Given the description of an element on the screen output the (x, y) to click on. 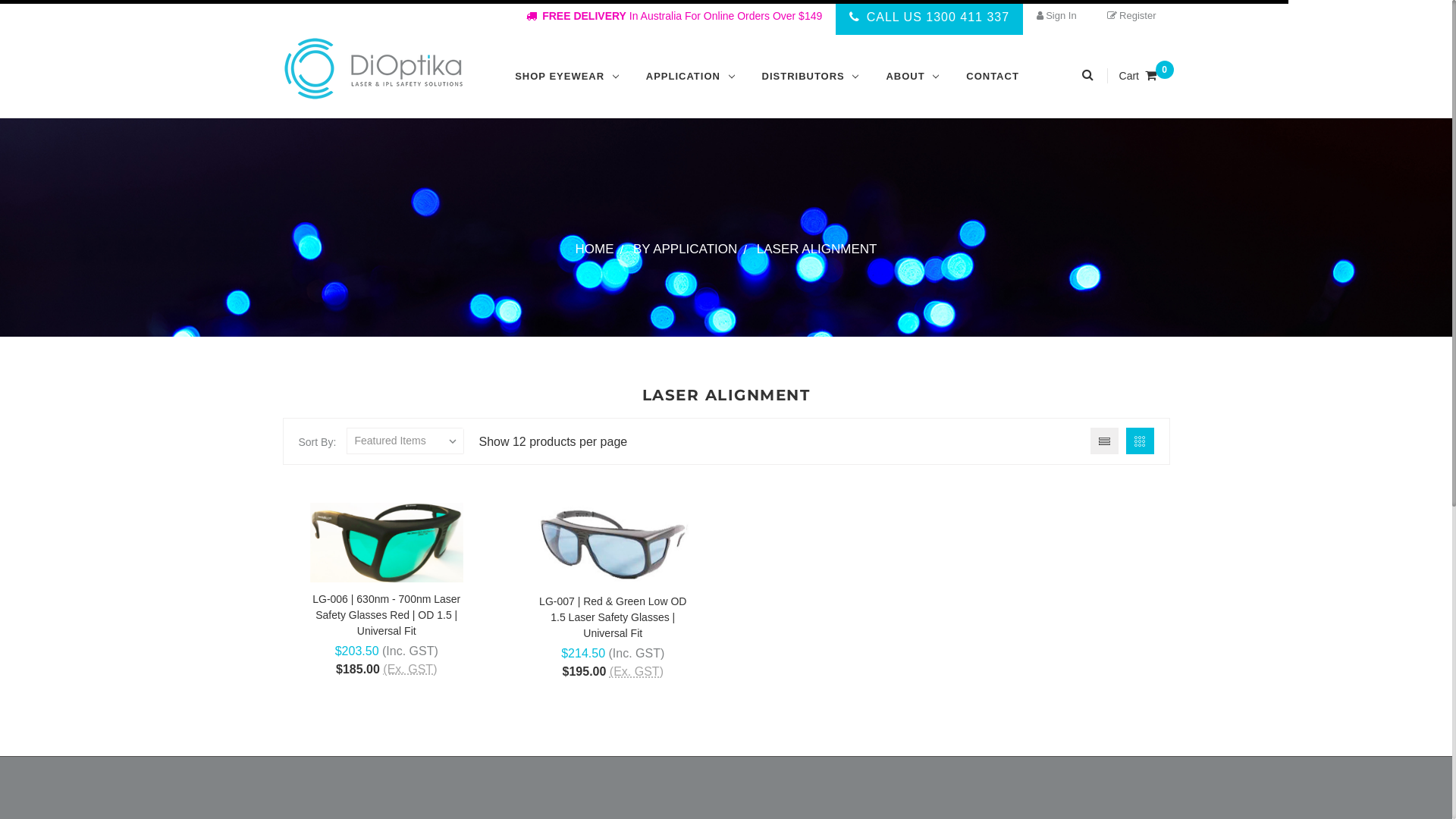
LG-006 Fitover Red Laser Safety Glasses Element type: hover (386, 542)
DISTRIBUTORS Element type: text (810, 76)
ABOUT Element type: text (912, 76)
Cart 
0 Element type: text (1138, 76)
FREE DELIVERY In Australia For Online Orders Over $149 Element type: text (673, 16)
HOME Element type: text (594, 248)
Register Element type: text (1131, 15)
CONTACT Element type: text (992, 76)
APPLICATION Element type: text (690, 76)
LASER ALIGNMENT Element type: text (816, 248)
Laser Safety Glasses | Australia Element type: hover (372, 68)
List Element type: text (1104, 440)
CALL US 1300 411 337 Element type: text (928, 17)
Sign In Element type: text (1055, 15)
BY APPLICATION Element type: text (685, 248)
SHOP EYEWEAR Element type: text (566, 76)
Grid Element type: text (1139, 440)
